Given the description of an element on the screen output the (x, y) to click on. 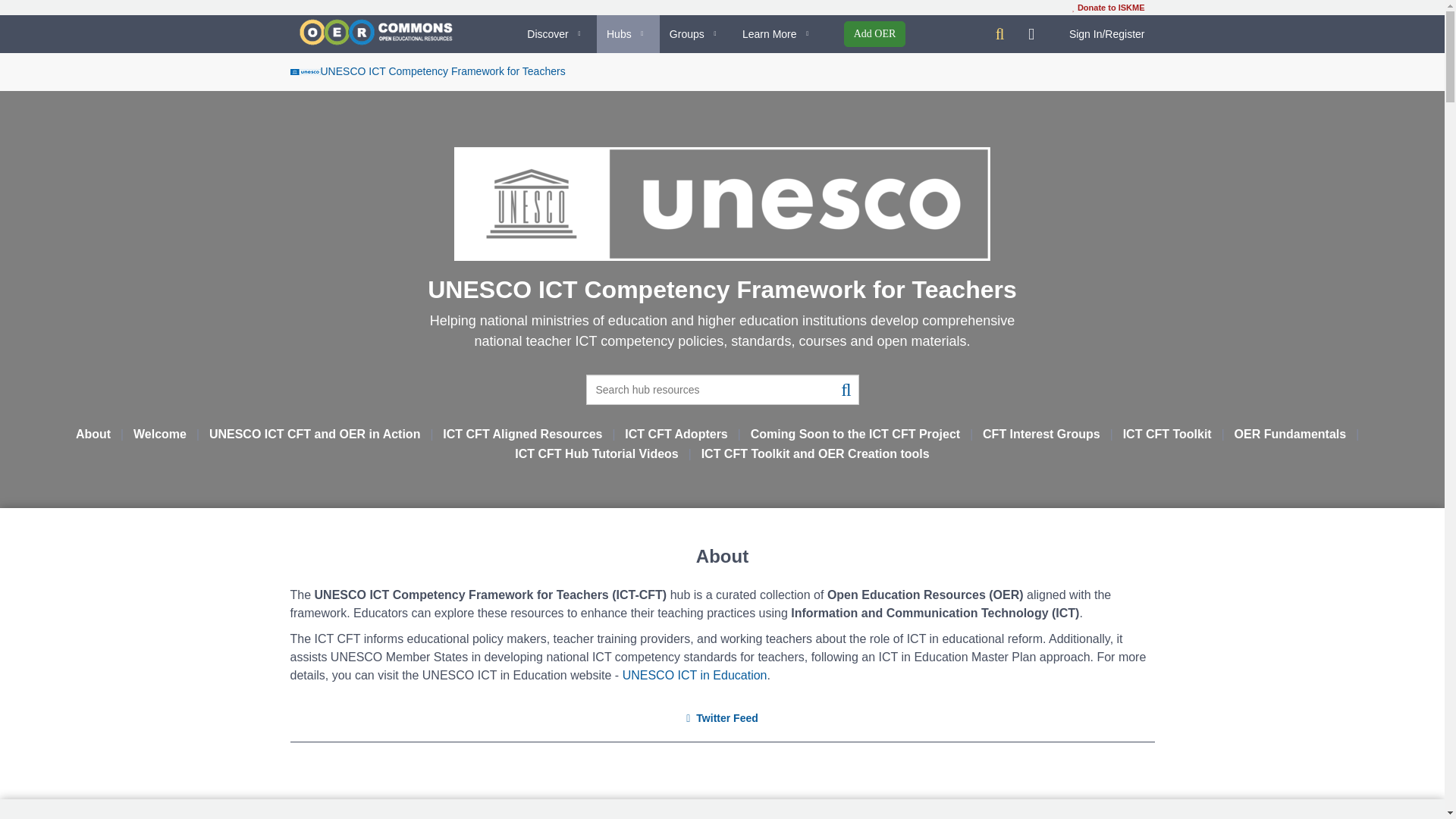
Show add OER options (874, 33)
Donate to ISKME (1107, 7)
Discover (556, 34)
Learn More (778, 34)
Hubs (627, 34)
Groups (695, 34)
Add OER (874, 33)
UNESCO ICT Competency Framework for Teachers (426, 70)
